Given the description of an element on the screen output the (x, y) to click on. 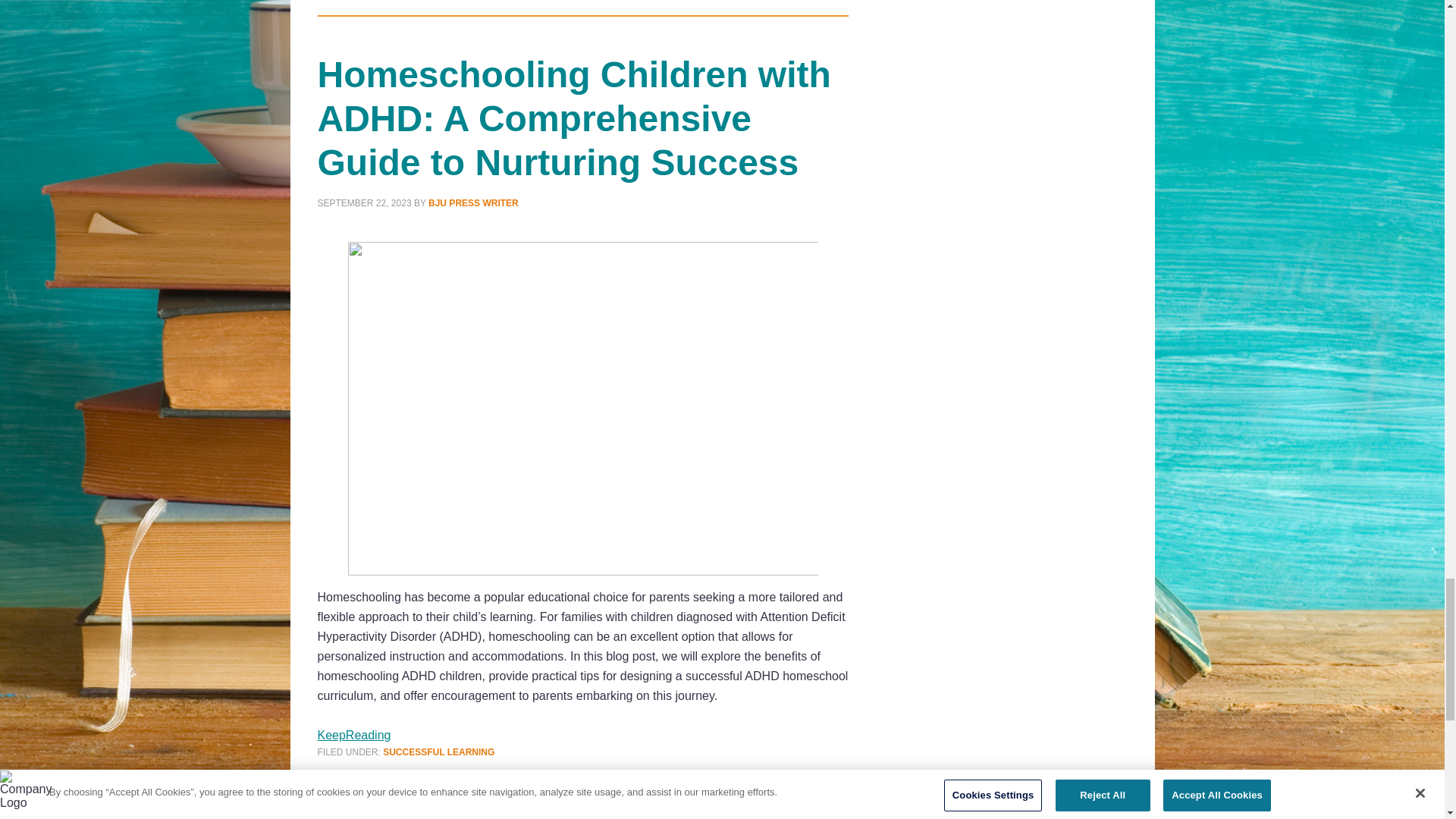
KeepReading (353, 735)
SUCCESSFUL LEARNING (438, 751)
BJU PRESS WRITER (473, 203)
